Given the description of an element on the screen output the (x, y) to click on. 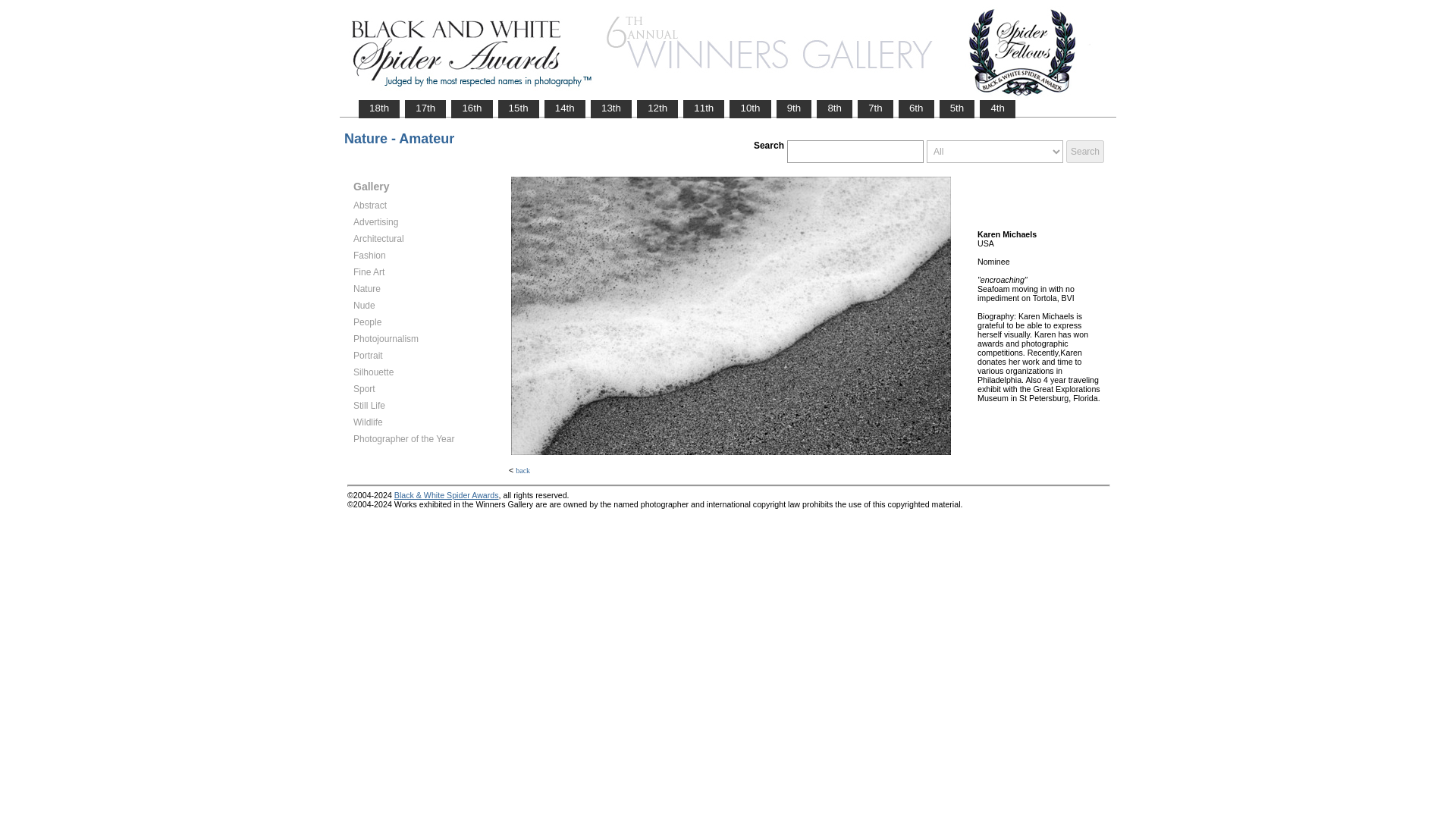
Search (1084, 151)
   6th    (916, 107)
   4th    (996, 107)
   5th    (957, 107)
   16th    (471, 107)
Search (1084, 151)
   12th    (657, 107)
   15th    (518, 107)
   13th    (610, 107)
   11th    (703, 107)
